Given the description of an element on the screen output the (x, y) to click on. 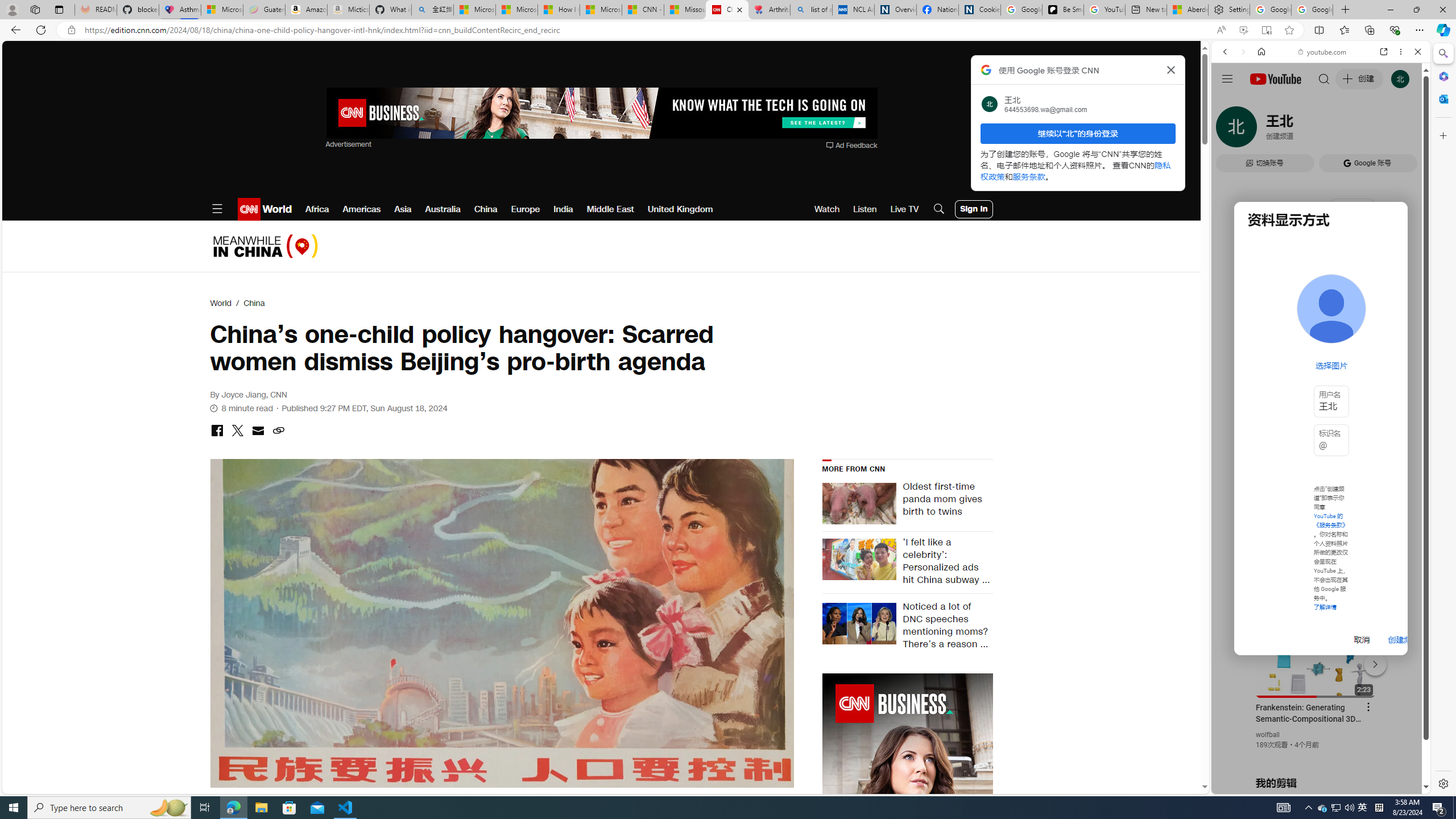
Arthritis: Ask Health Professionals (769, 9)
Trailer #2 [HD] (1320, 337)
Search Filter, WEB (1230, 129)
